Given the description of an element on the screen output the (x, y) to click on. 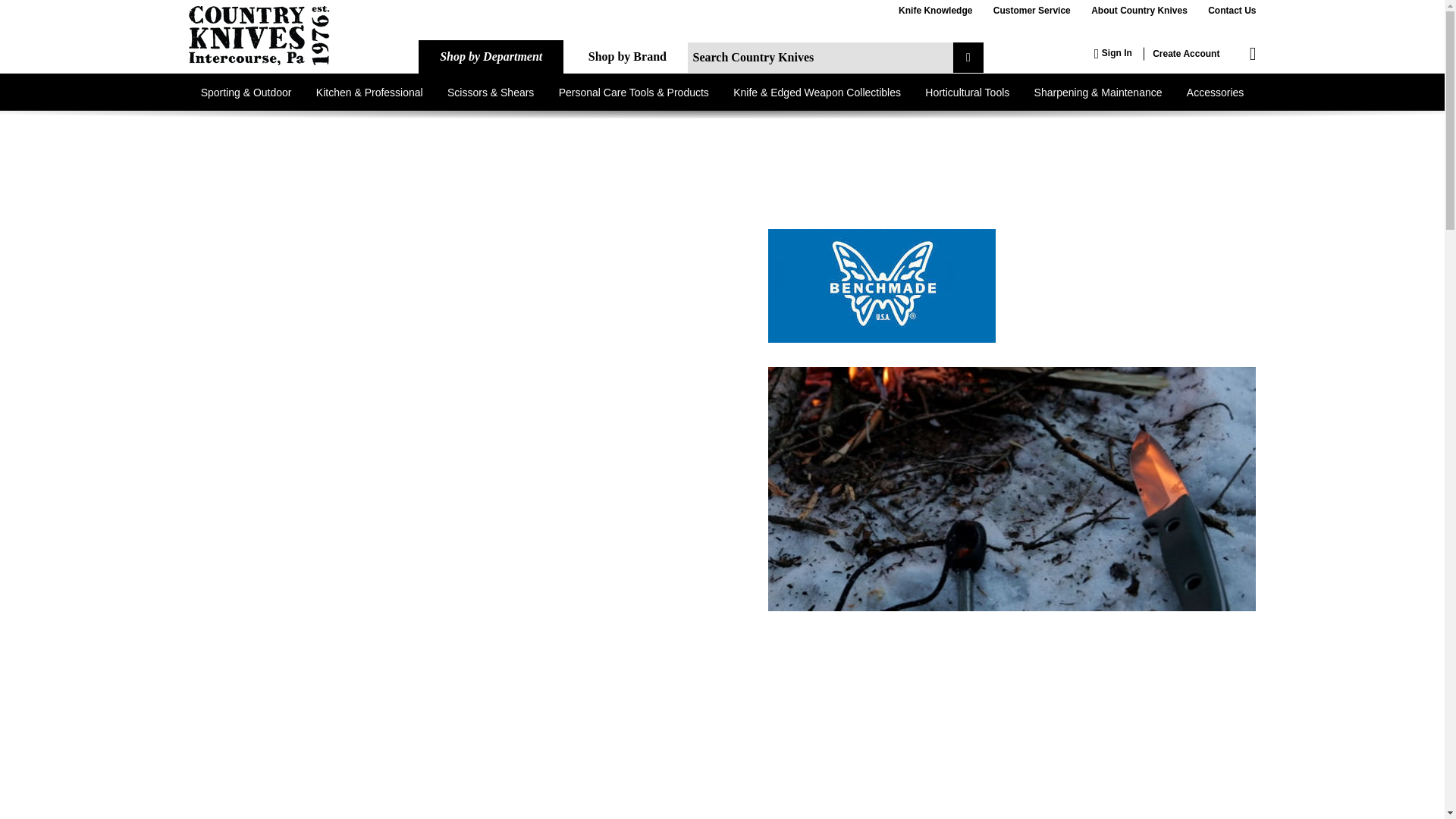
About Country Knives (1139, 10)
Create Account (1186, 53)
Horticultural Tools (967, 91)
Knife Knowledge (935, 10)
Accessories (1215, 91)
Sign In (1113, 53)
Contact Us (1231, 10)
Shop by Department (491, 56)
Shop by Brand (627, 56)
Customer Service (1031, 10)
